Given the description of an element on the screen output the (x, y) to click on. 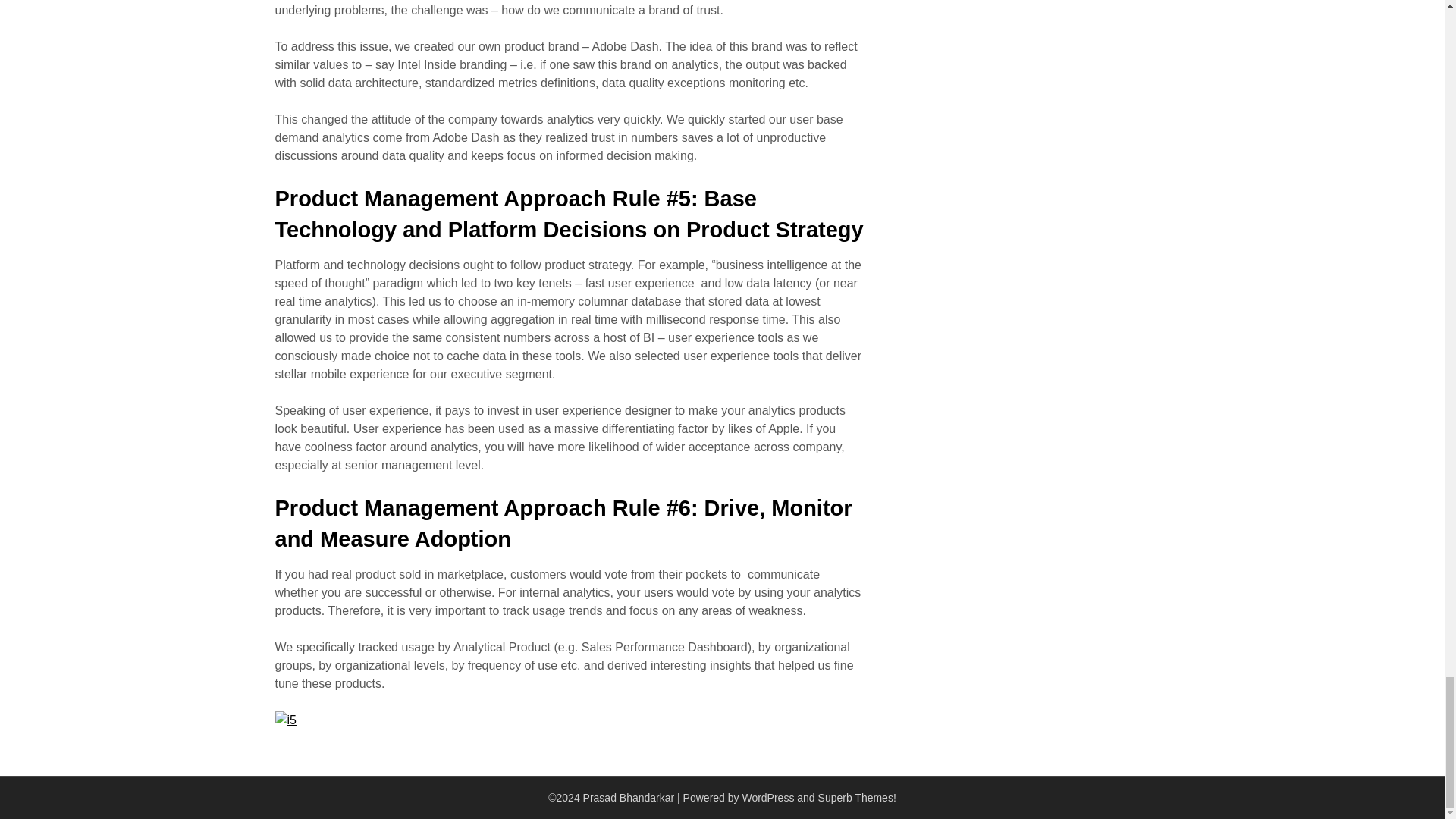
Superb Themes! (857, 797)
